Given the description of an element on the screen output the (x, y) to click on. 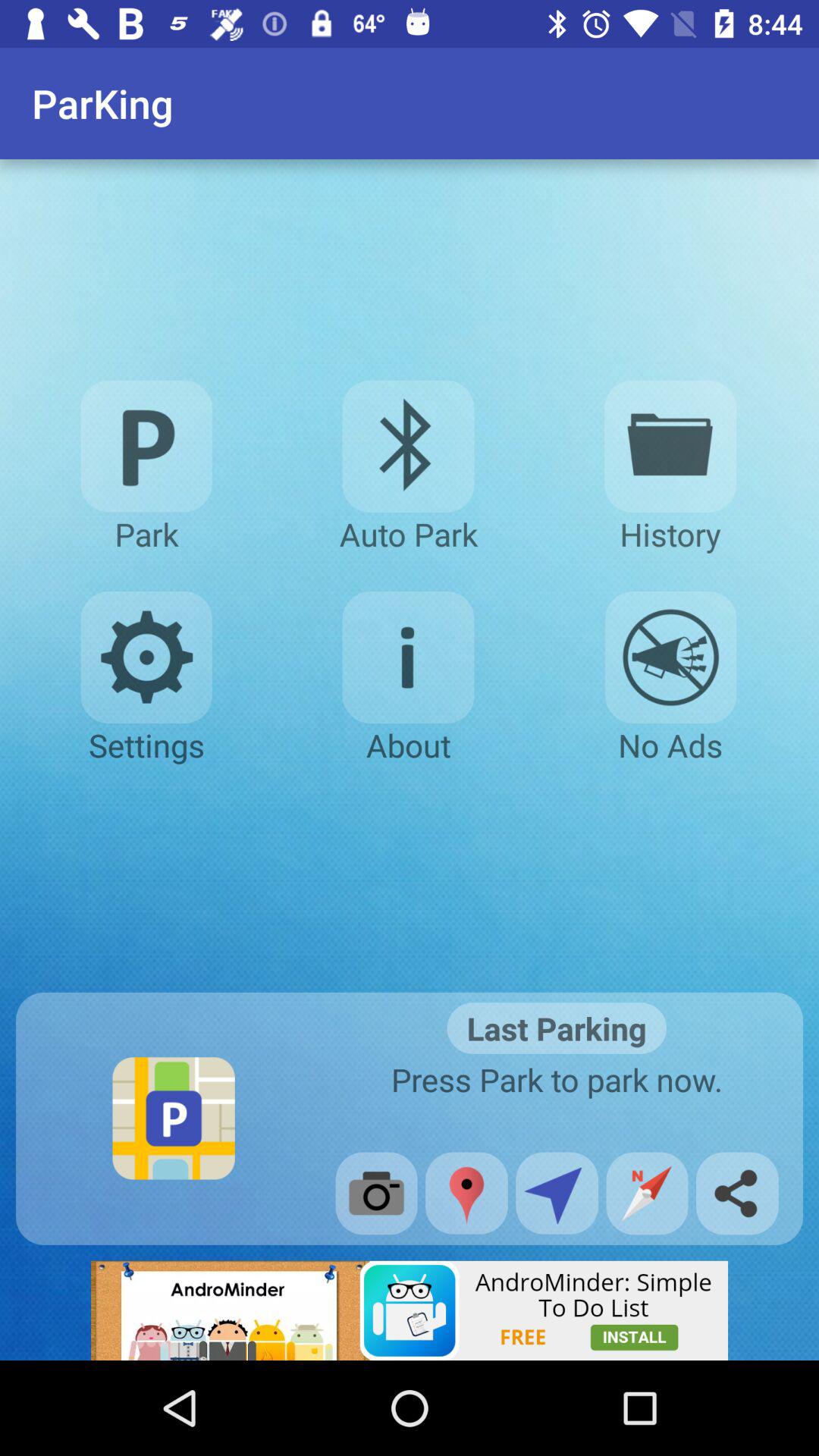
about (408, 657)
